Given the description of an element on the screen output the (x, y) to click on. 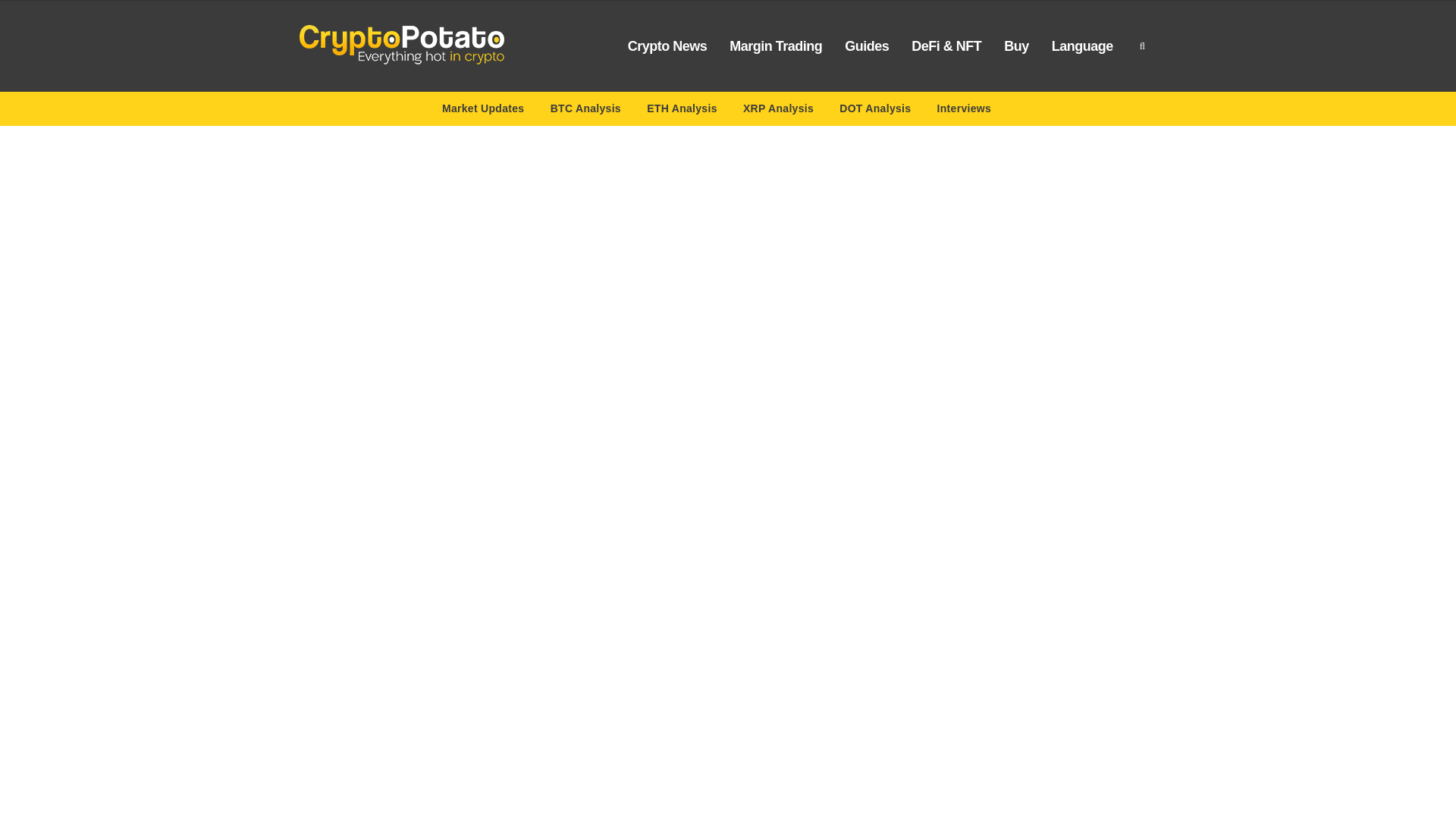
Margin Trading (774, 45)
DOT Analysis (875, 110)
BTC Analysis (585, 110)
Market Updates (483, 110)
ETH Analysis (681, 110)
Crypto News (667, 45)
XRP Analysis (777, 110)
Interviews (964, 110)
Language (1082, 45)
